Given the description of an element on the screen output the (x, y) to click on. 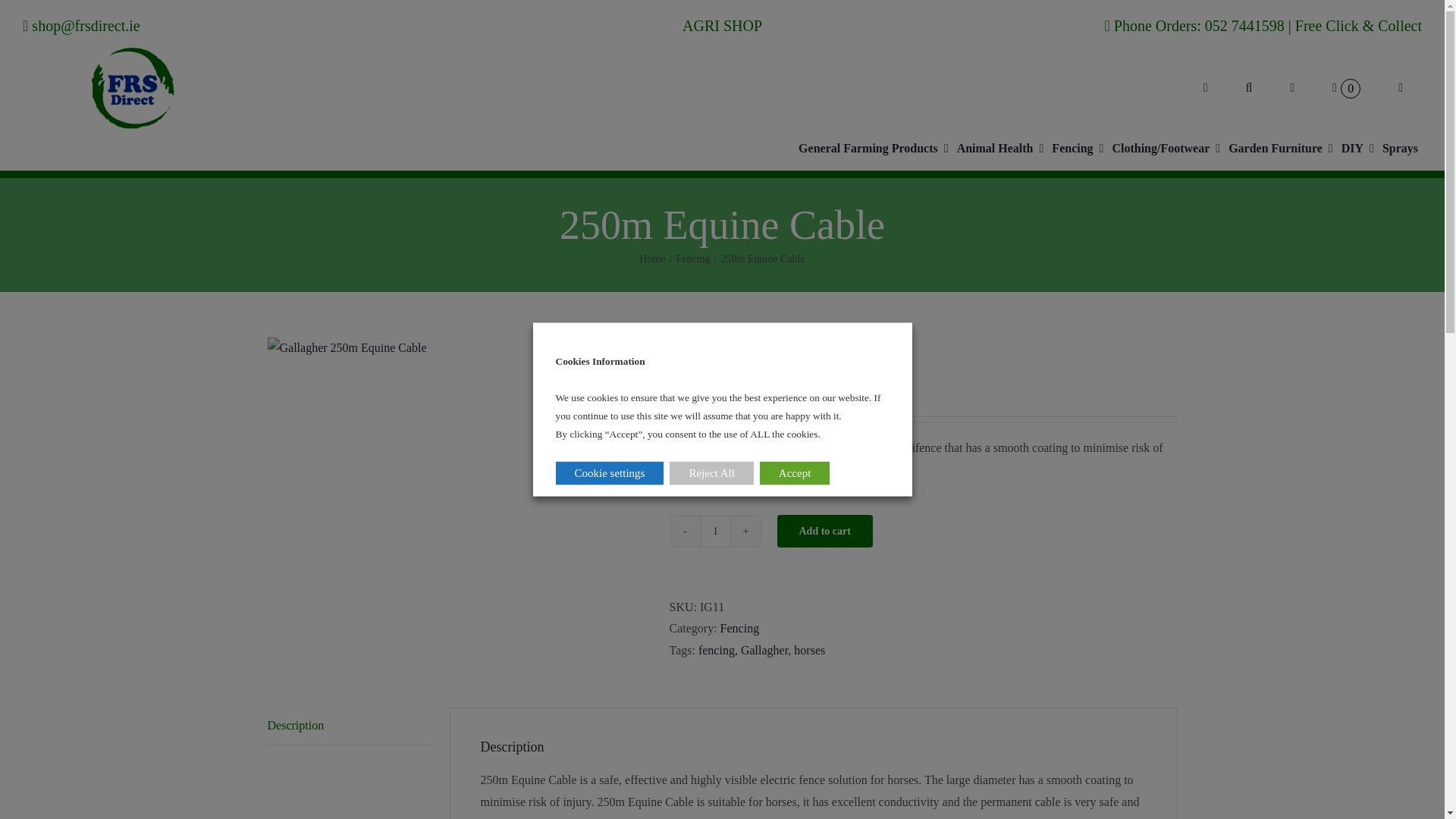
1 (715, 531)
- (684, 531)
0 (1345, 88)
250m Equine Cable Gallagher (346, 348)
Animal Health (1000, 148)
Search (1249, 88)
General Farming Products (872, 148)
Fencing (1076, 148)
